Given the description of an element on the screen output the (x, y) to click on. 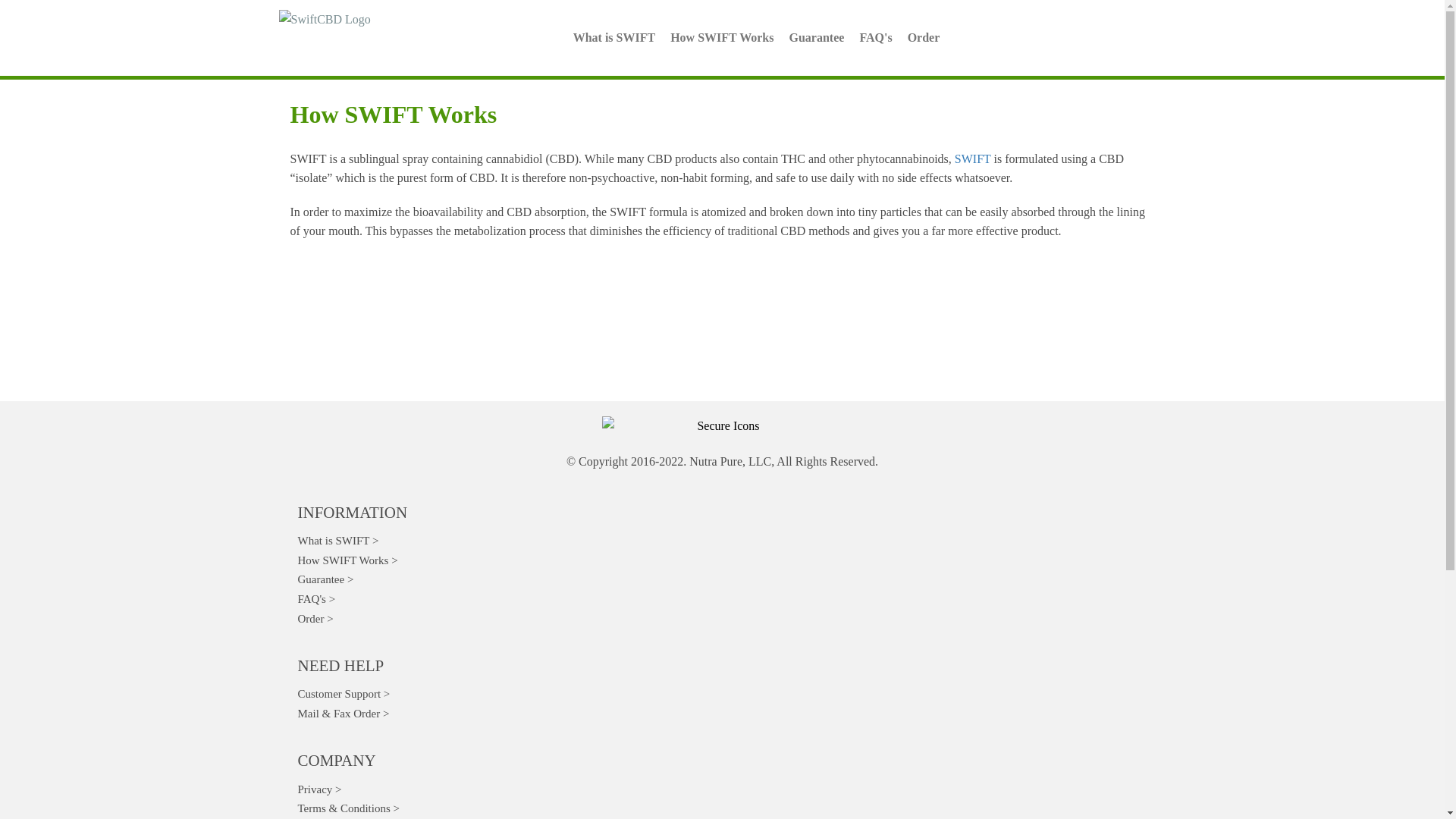
Order (923, 37)
How SWIFT Works (721, 37)
Guarantee (816, 37)
Customer Support (343, 693)
Order (315, 618)
FAQ's (875, 37)
What is SWIFT (337, 540)
SWIFT (973, 158)
SwiftCBD (973, 158)
What is SWIFT (614, 37)
Guarantee (325, 579)
FAQ's (315, 598)
Privacy (318, 788)
How SWIFT Works (347, 560)
